Given the description of an element on the screen output the (x, y) to click on. 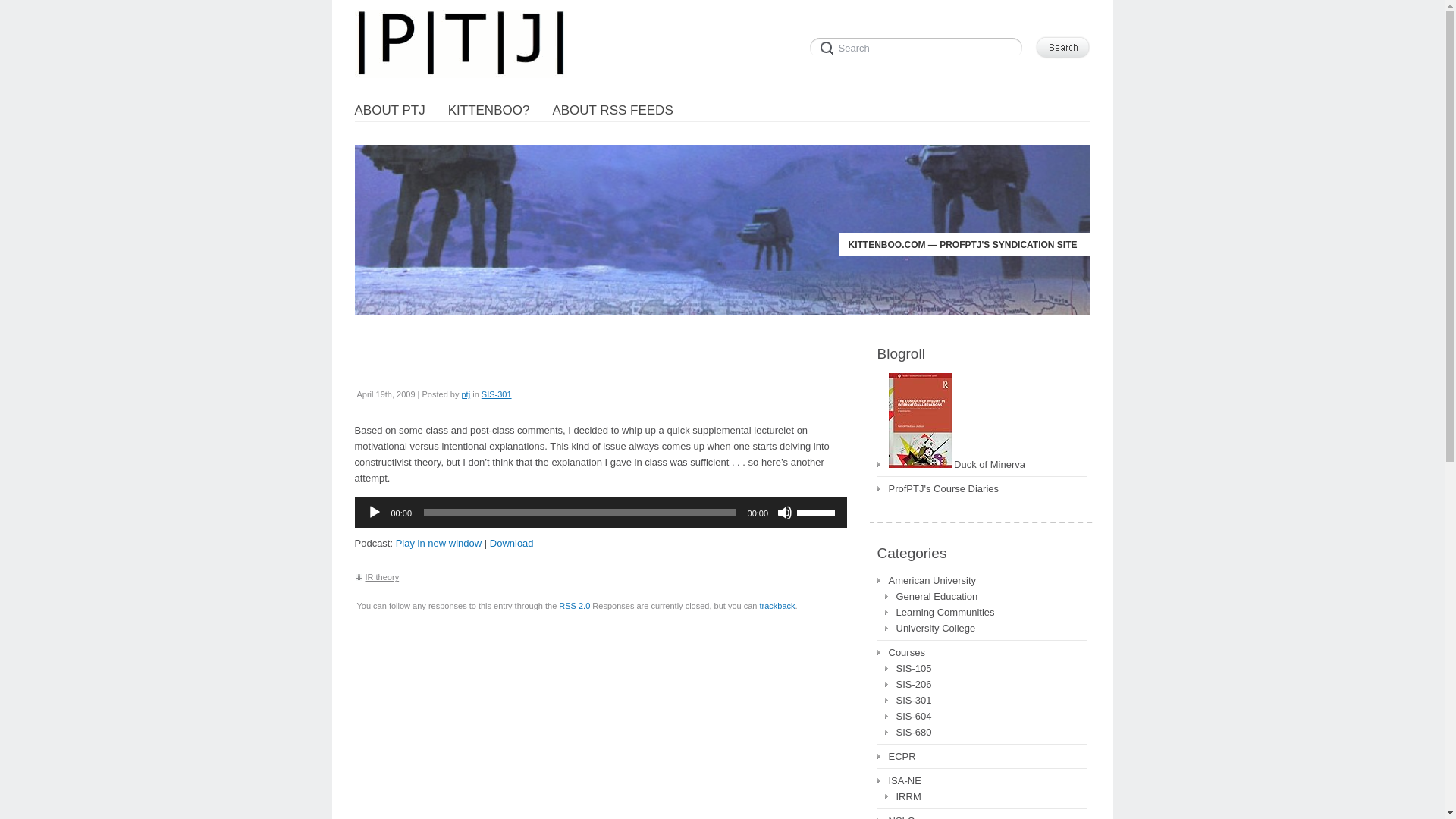
International Relations Group Blog (950, 464)
Duck of Minerva (950, 464)
IRRM (901, 796)
Download (511, 542)
ISA-NE (898, 780)
American University (925, 579)
IR theory (377, 576)
Search (1061, 47)
NSLC (895, 815)
Mute (784, 512)
SIS-105 (907, 668)
Learning Communities (938, 611)
University College (929, 628)
SIS-301 (907, 700)
General Education (929, 596)
